Given the description of an element on the screen output the (x, y) to click on. 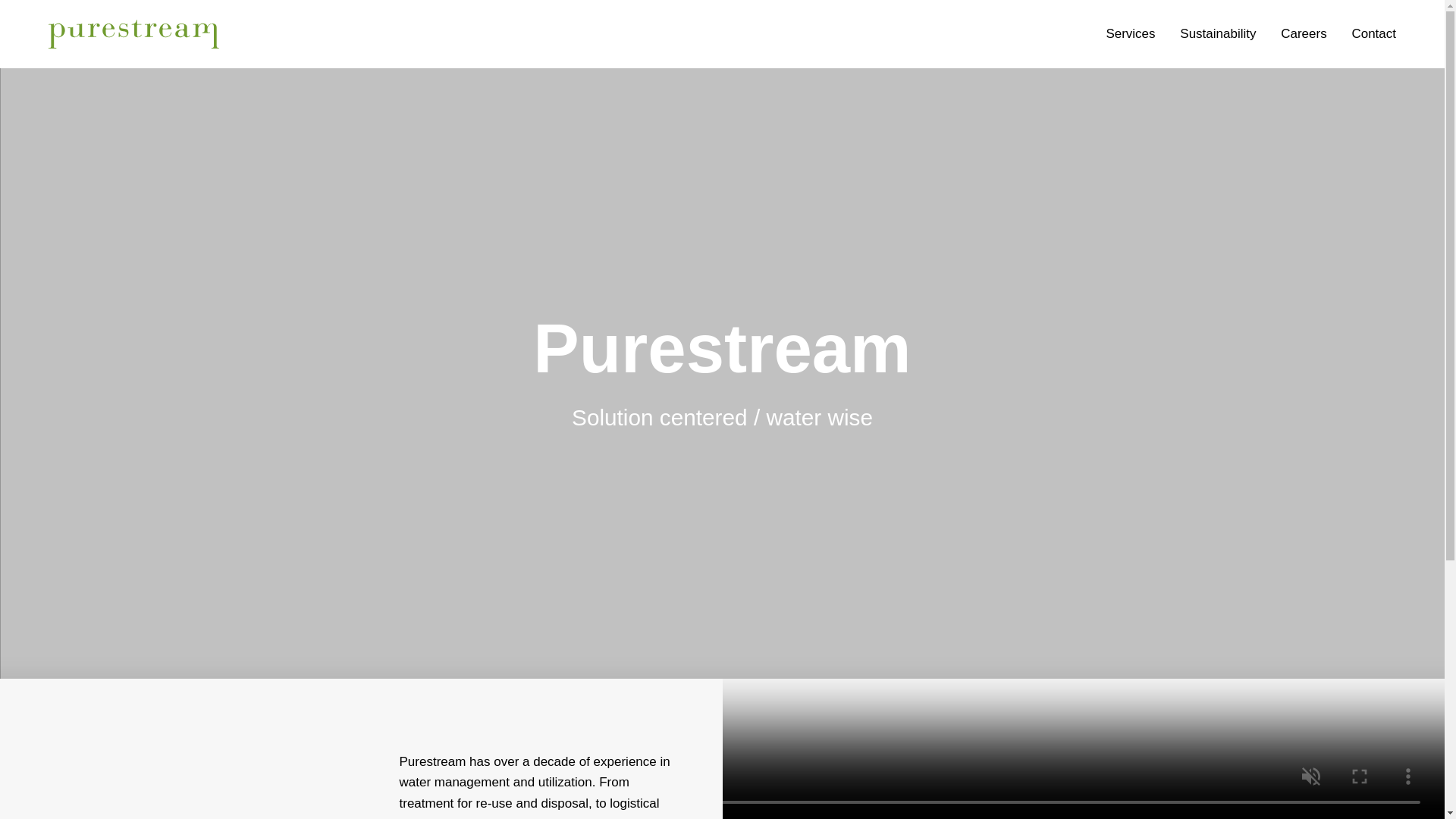
Services (1129, 33)
Careers (1303, 33)
Sustainability (1217, 33)
Purestream homepage (133, 33)
Contact (1373, 33)
